Given the description of an element on the screen output the (x, y) to click on. 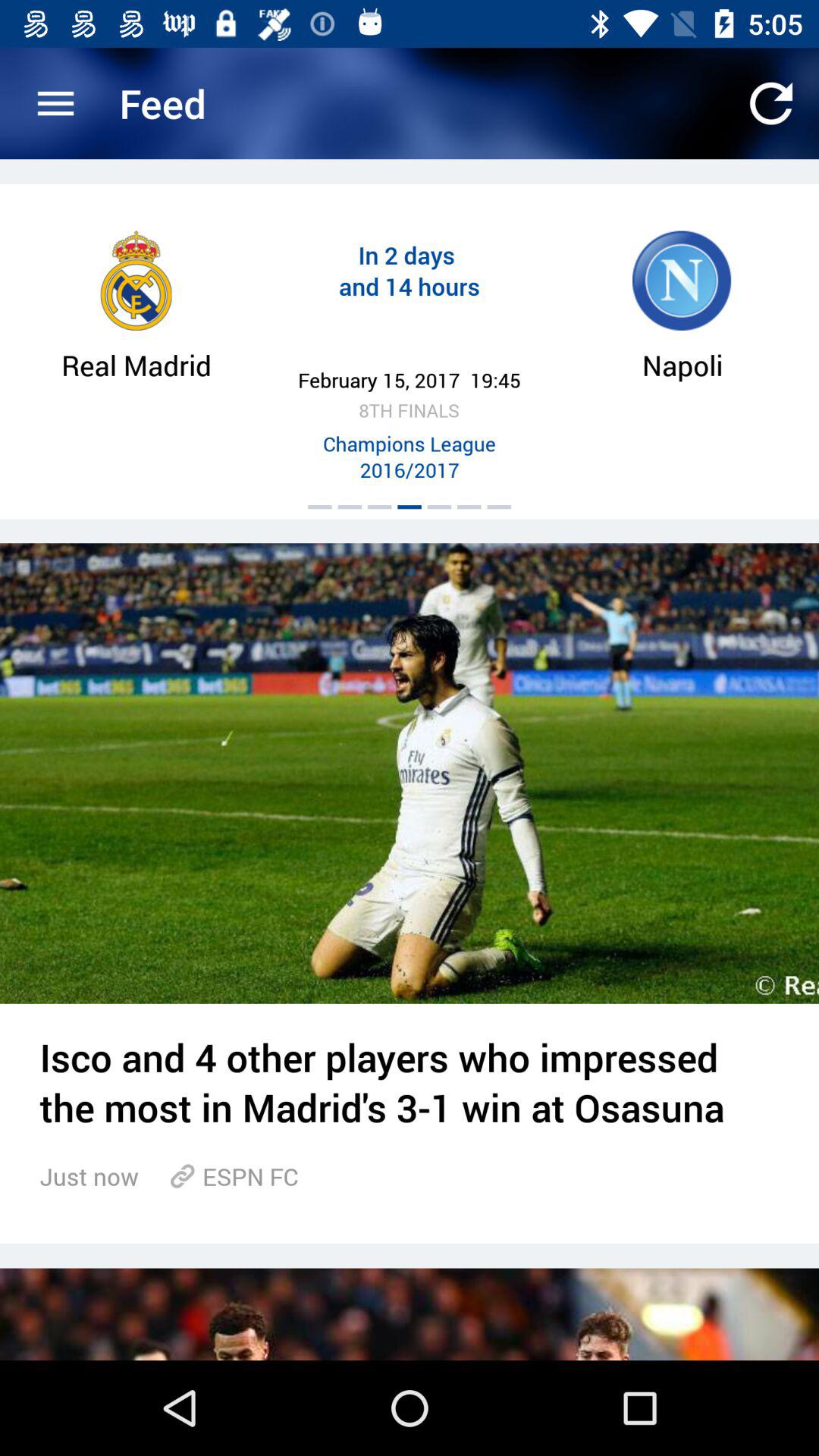
tap app to the right of the feed item (771, 103)
